Given the description of an element on the screen output the (x, y) to click on. 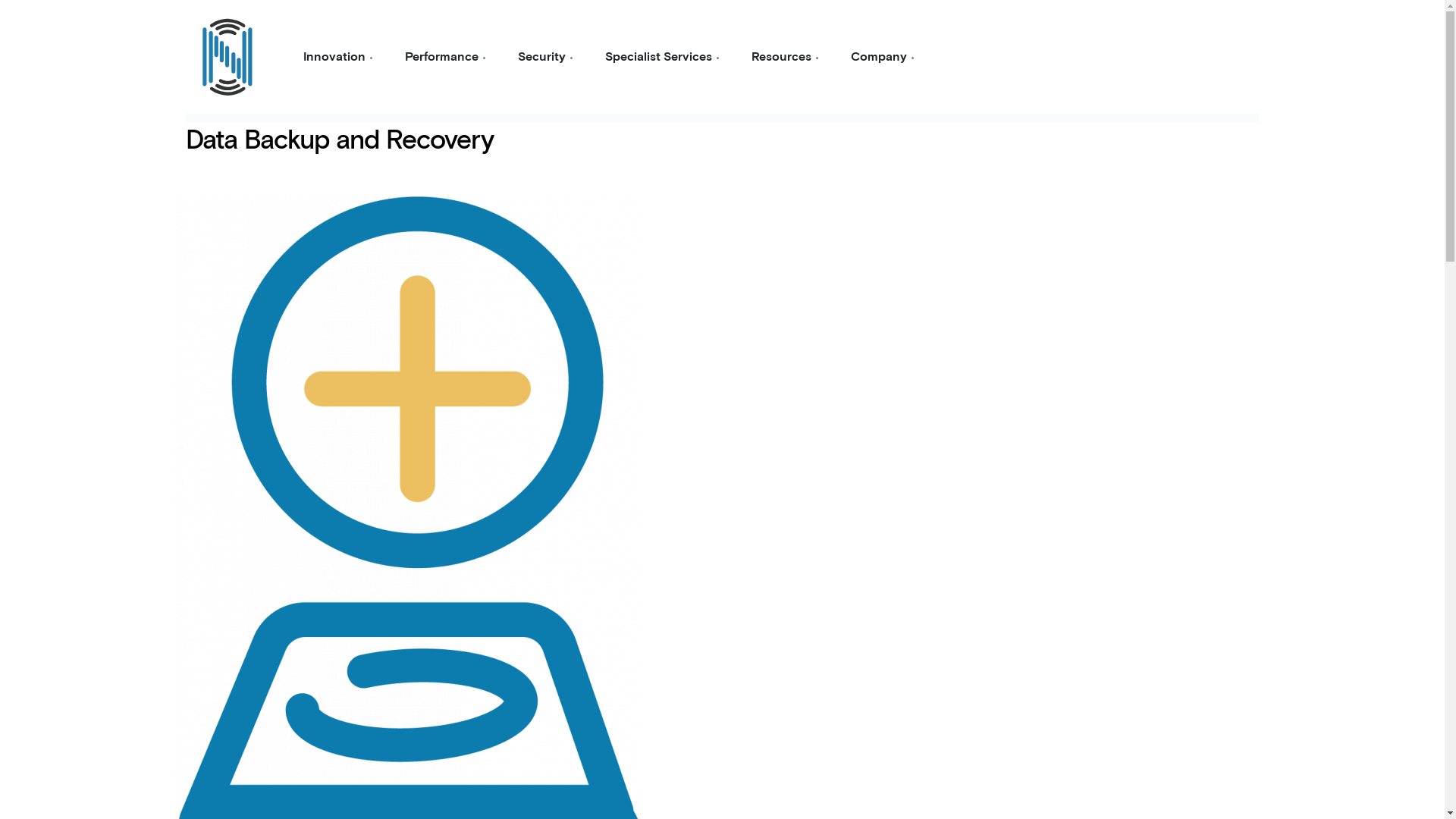
Specialist Services Element type: text (664, 58)
Innovation Element type: text (340, 58)
Resources Element type: text (787, 58)
Company Element type: text (884, 58)
Performance Element type: text (447, 58)
Security Element type: text (547, 58)
